Given the description of an element on the screen output the (x, y) to click on. 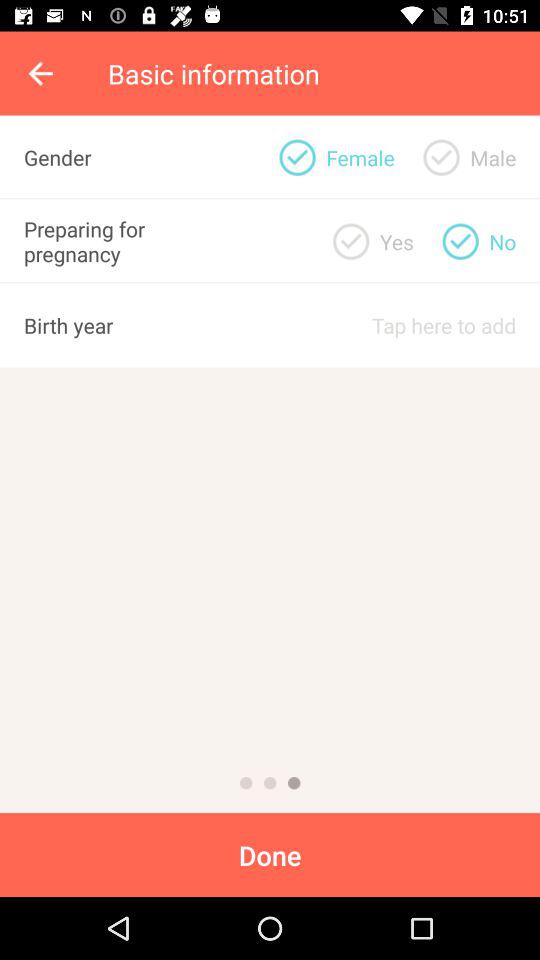
choose icon above the tap here to icon (396, 241)
